Given the description of an element on the screen output the (x, y) to click on. 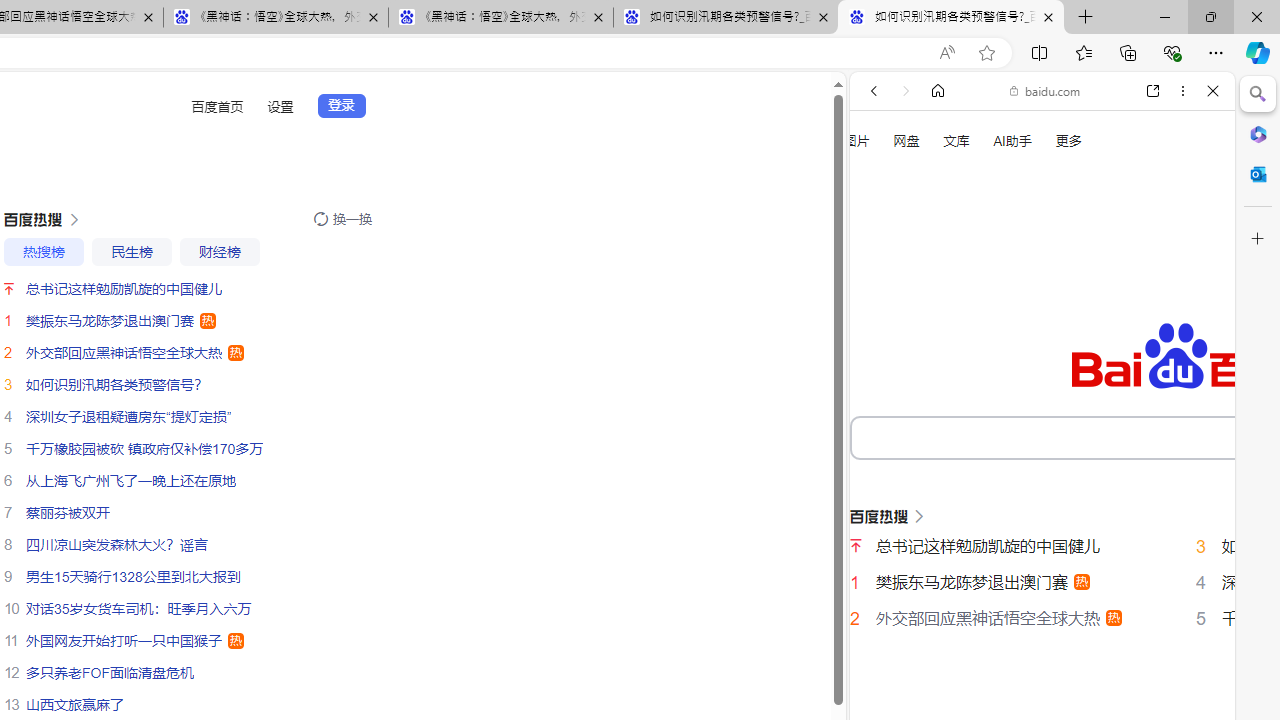
Search Filter, VIDEOS (1006, 339)
Learn more (943, 272)
WEB   (882, 339)
This site scope (936, 180)
